Given the description of an element on the screen output the (x, y) to click on. 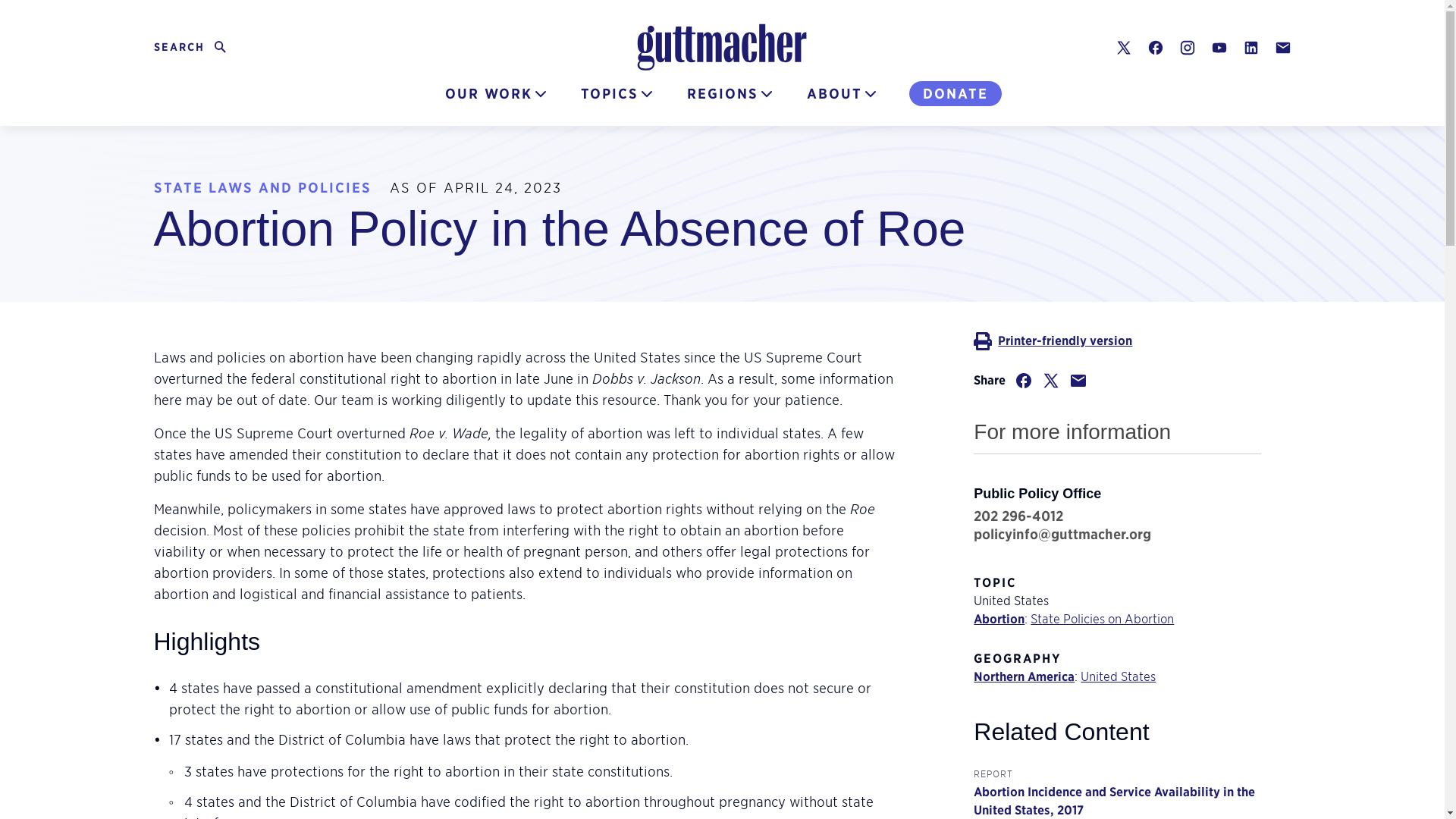
Instagram (1186, 47)
Contact (1282, 47)
LinkedIn (1250, 47)
Print (1117, 341)
Skip to main content (17, 9)
Facebook (1155, 47)
Twitter (1123, 47)
Youtube (1218, 47)
OUR WORK (191, 46)
